Given the description of an element on the screen output the (x, y) to click on. 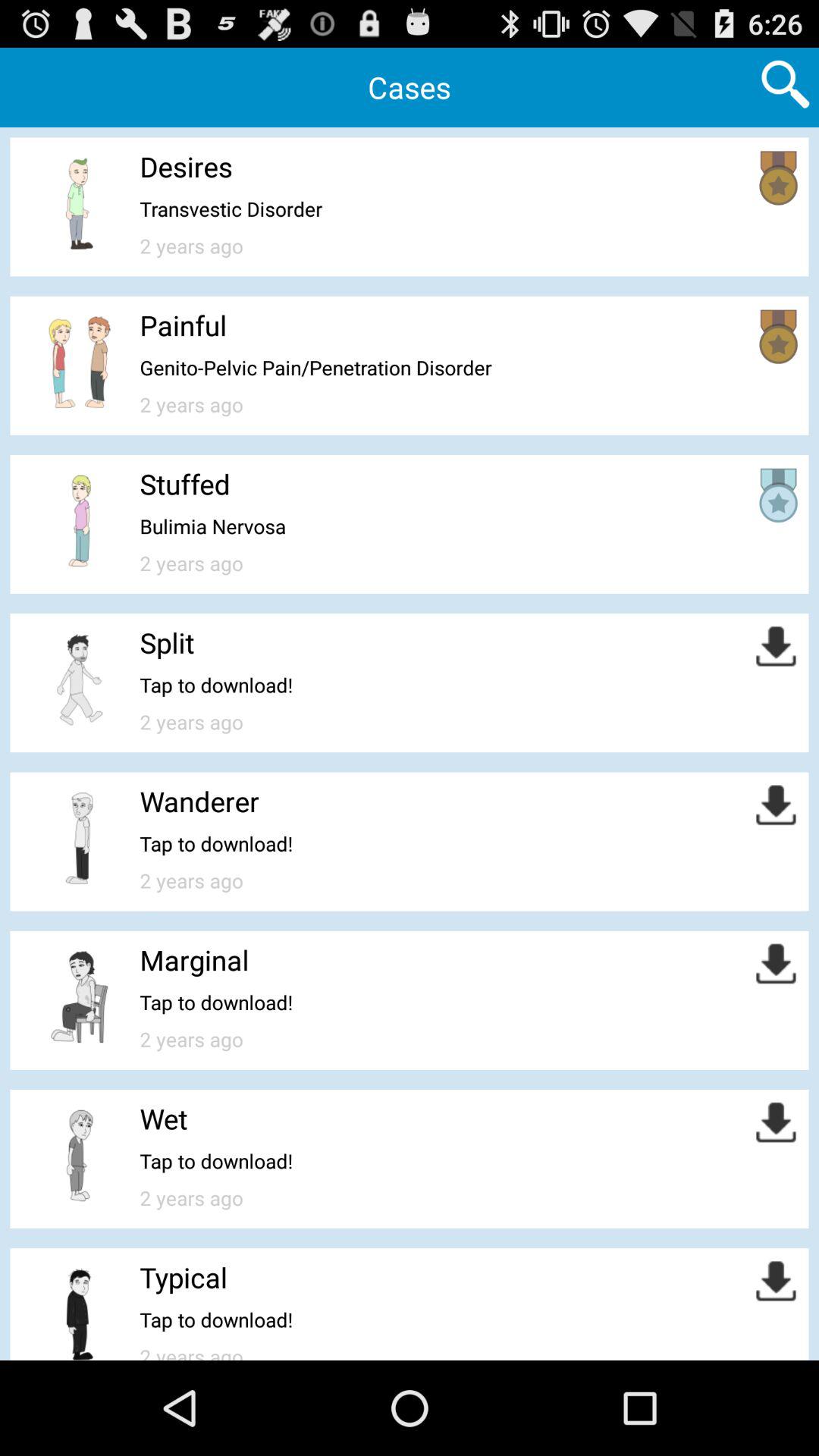
choose item below the painful (315, 367)
